Given the description of an element on the screen output the (x, y) to click on. 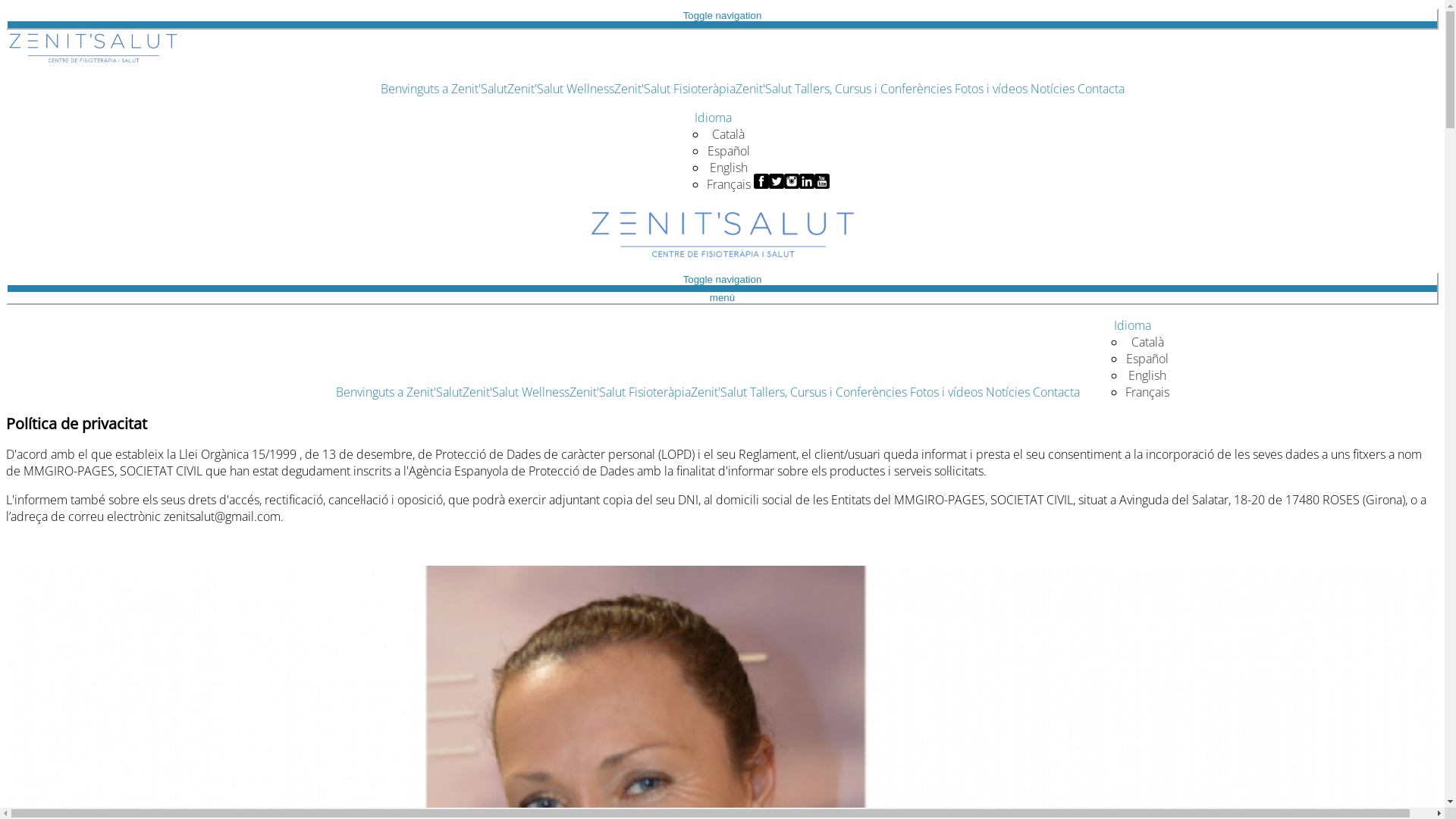
Benvinguts a Zenit'Salut Element type: text (398, 391)
Toggle navigation Element type: text (722, 18)
Idioma Element type: text (712, 117)
English Element type: text (728, 167)
English Element type: text (1147, 375)
Zenit'Salut Wellness Element type: text (560, 88)
Zenit'Salut Wellness Element type: text (515, 391)
Benvinguts a Zenit'Salut Element type: text (443, 88)
Idioma Element type: text (1131, 324)
Contacta Element type: text (1055, 391)
Contacta Element type: text (1100, 88)
